Given the description of an element on the screen output the (x, y) to click on. 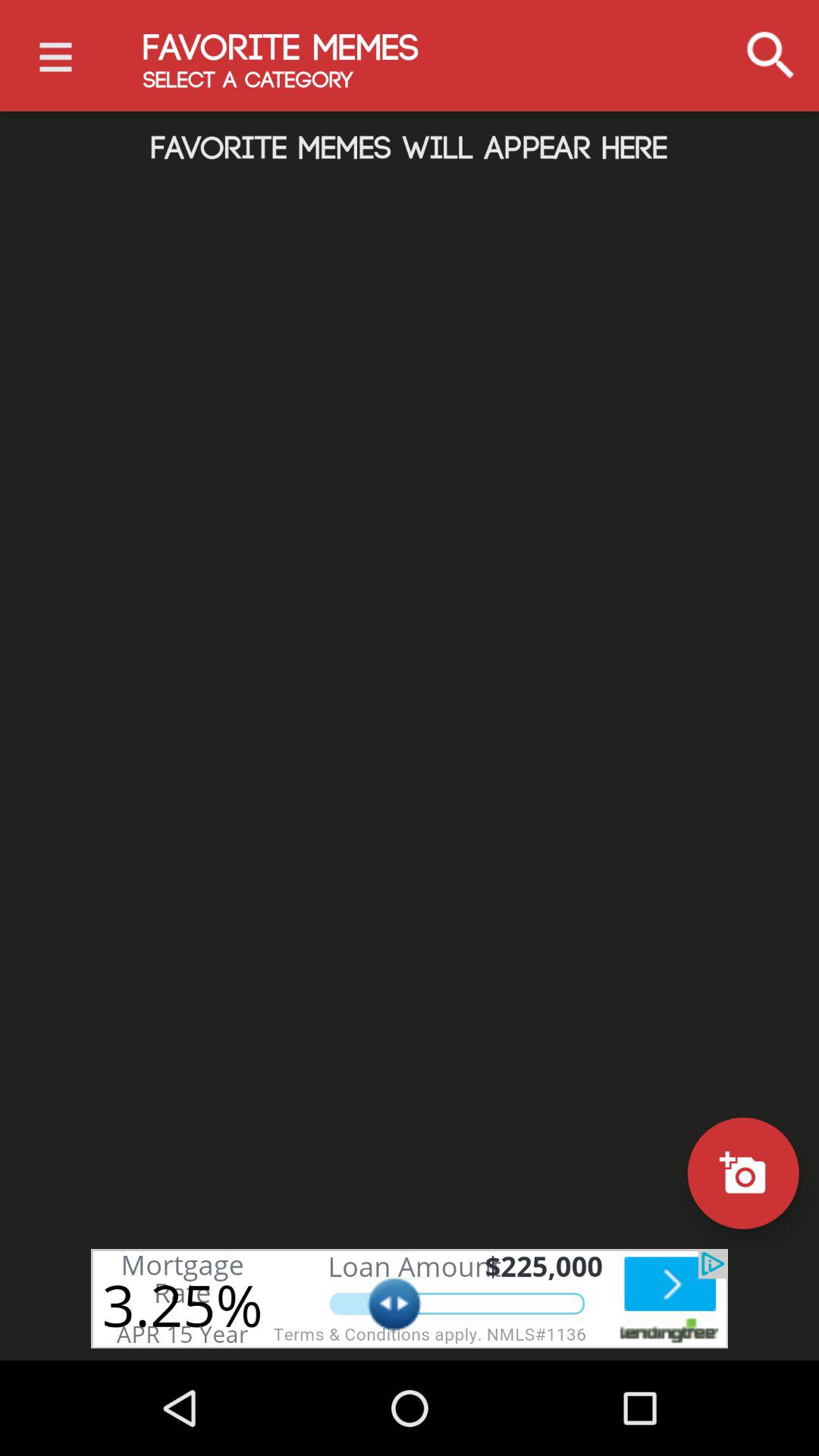
advertisement (409, 1298)
